Given the description of an element on the screen output the (x, y) to click on. 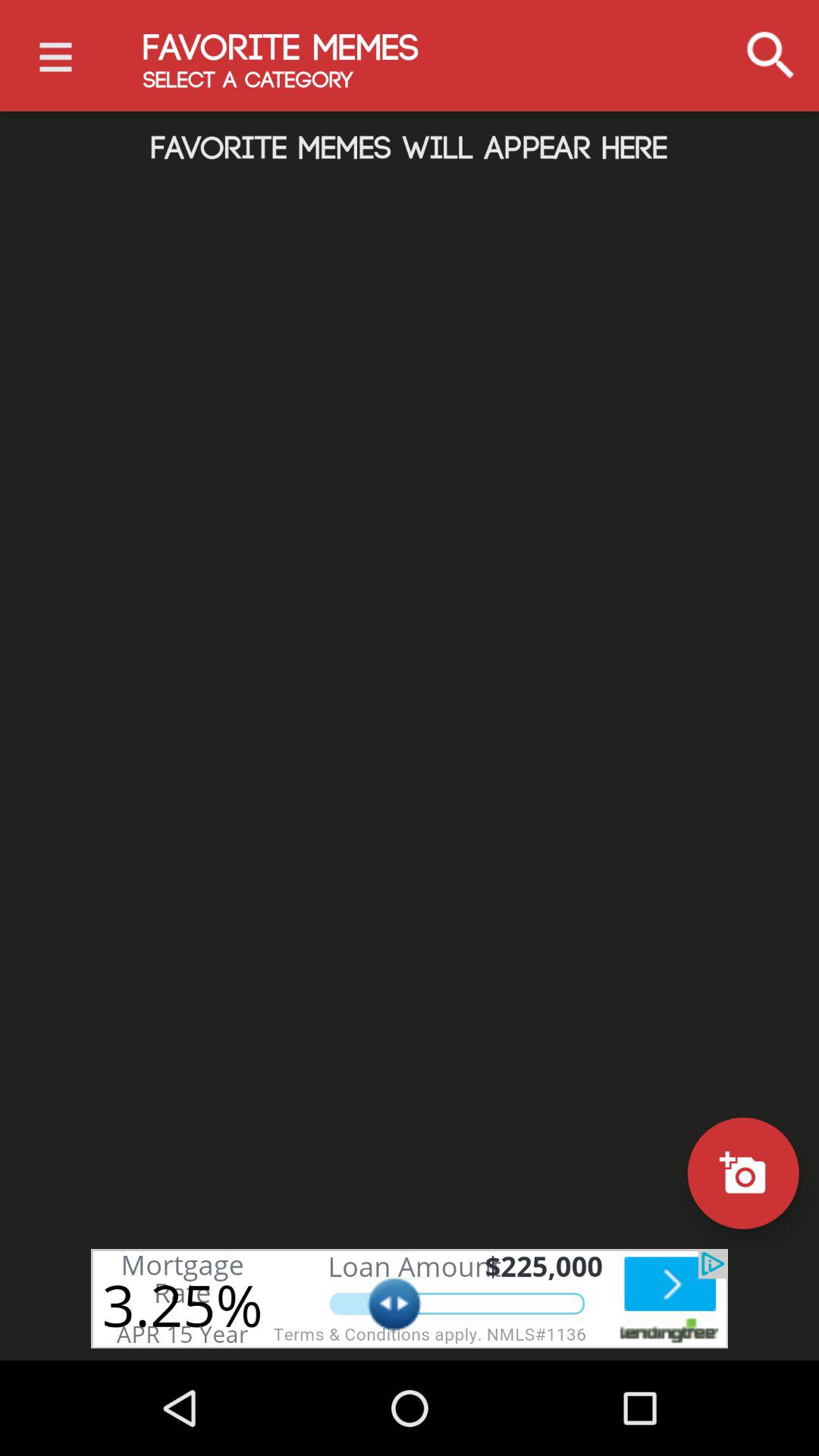
advertisement (409, 1298)
